Given the description of an element on the screen output the (x, y) to click on. 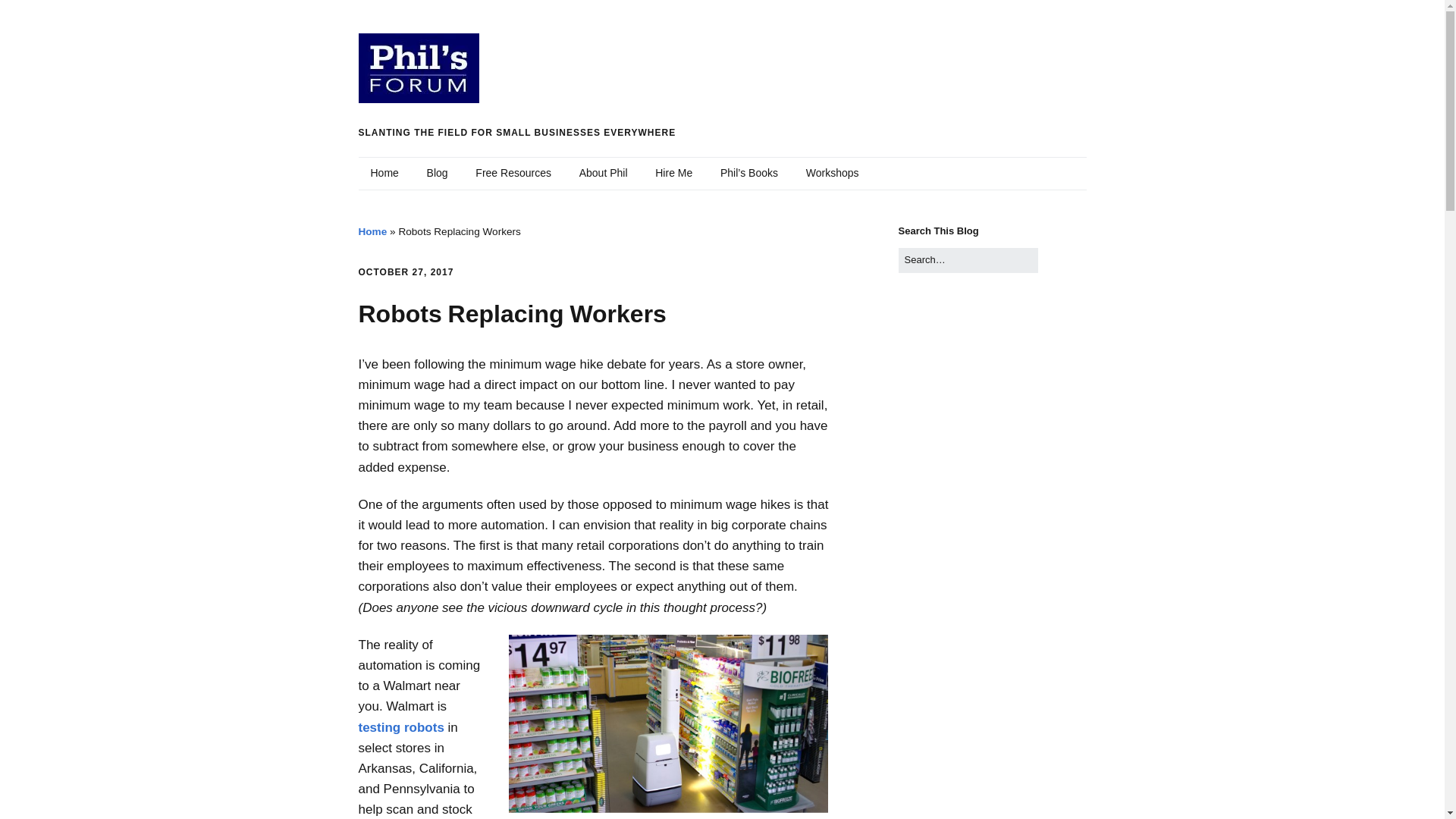
Blog (437, 173)
Home (384, 173)
Home (372, 231)
Free Resources (513, 173)
Workshops (831, 173)
testing robots (401, 727)
Hire Me (673, 173)
About Phil (603, 173)
Press Enter to submit your search (968, 260)
